Given the description of an element on the screen output the (x, y) to click on. 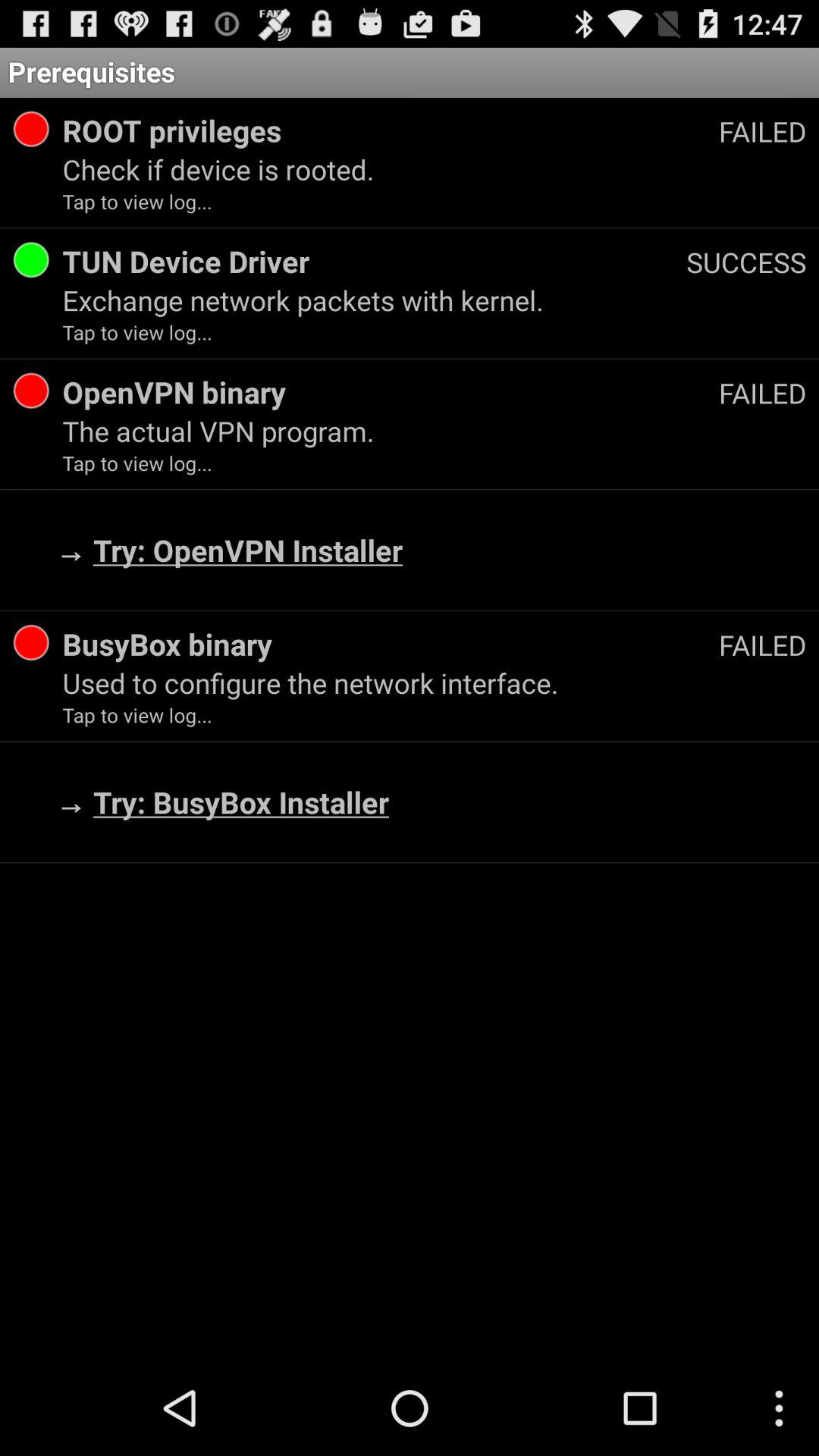
choose the icon above exchange network packets icon (746, 261)
